Given the description of an element on the screen output the (x, y) to click on. 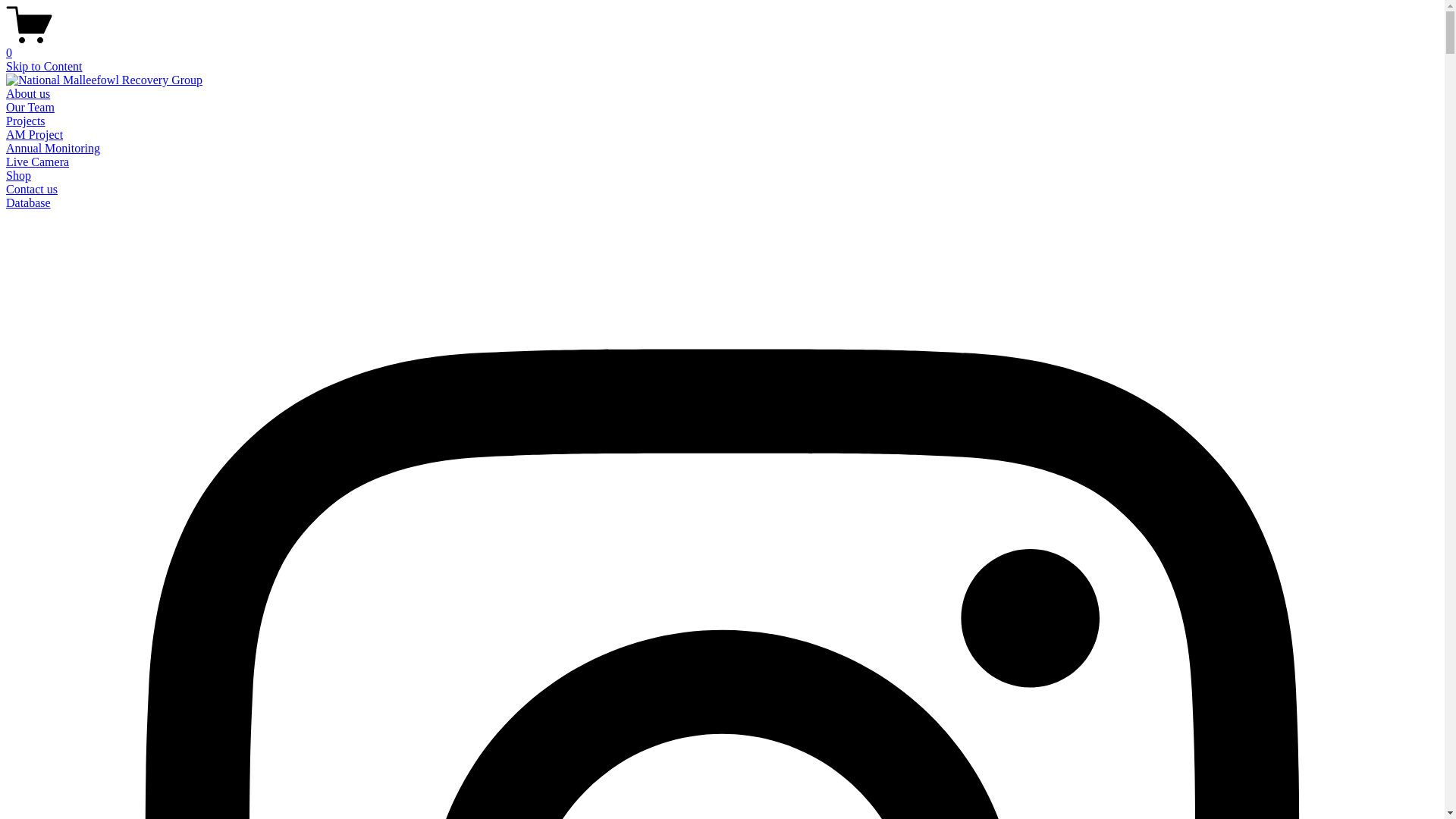
About us Element type: text (28, 93)
Live Camera Element type: text (37, 161)
0 Element type: text (722, 45)
Skip to Content Element type: text (43, 65)
Projects Element type: text (25, 120)
Database Element type: text (28, 202)
Contact us Element type: text (31, 188)
Shop Element type: text (18, 175)
Annual Monitoring Element type: text (53, 147)
Our Team Element type: text (30, 106)
AM Project Element type: text (34, 134)
